Given the description of an element on the screen output the (x, y) to click on. 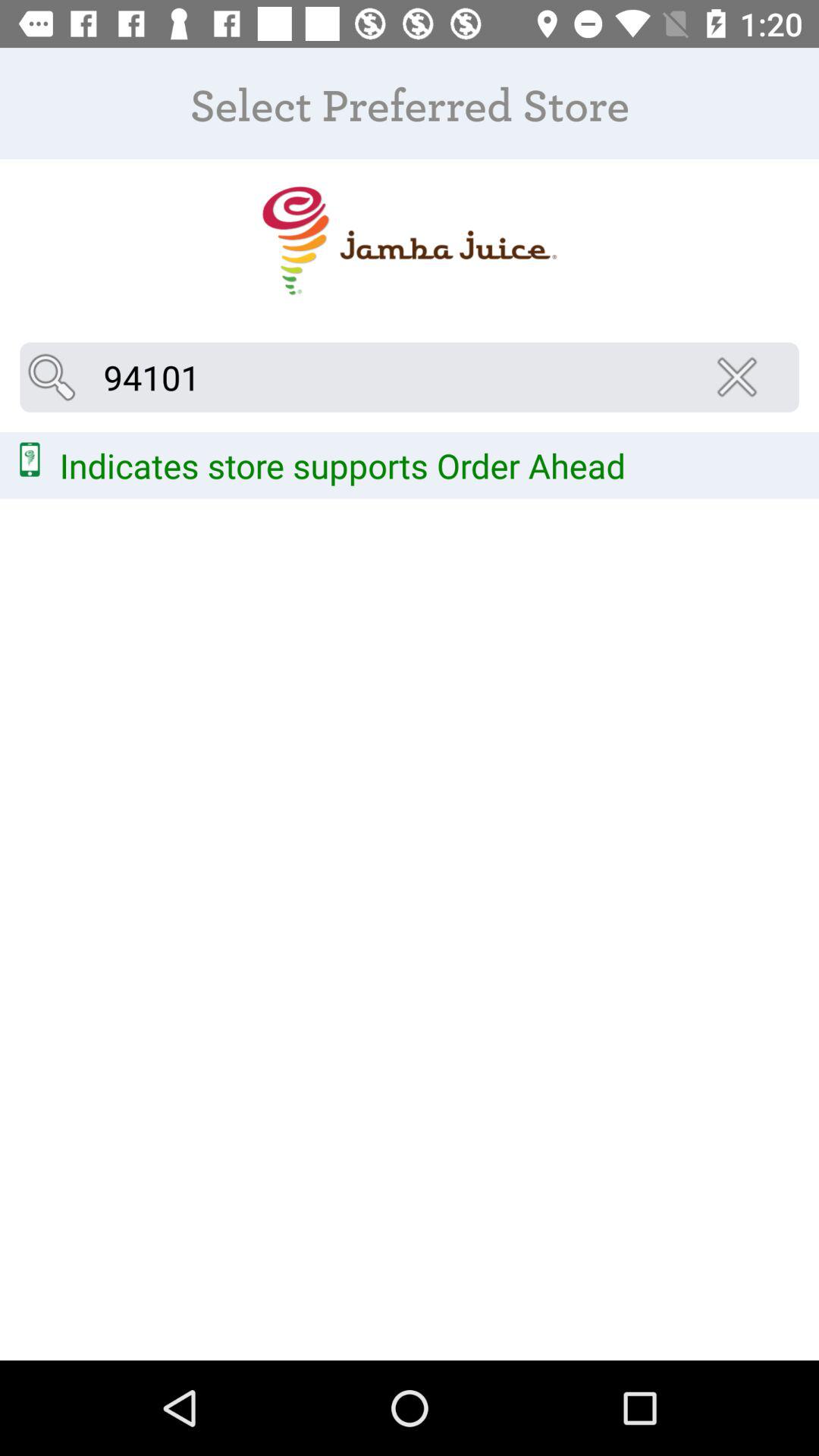
select store (408, 240)
